Given the description of an element on the screen output the (x, y) to click on. 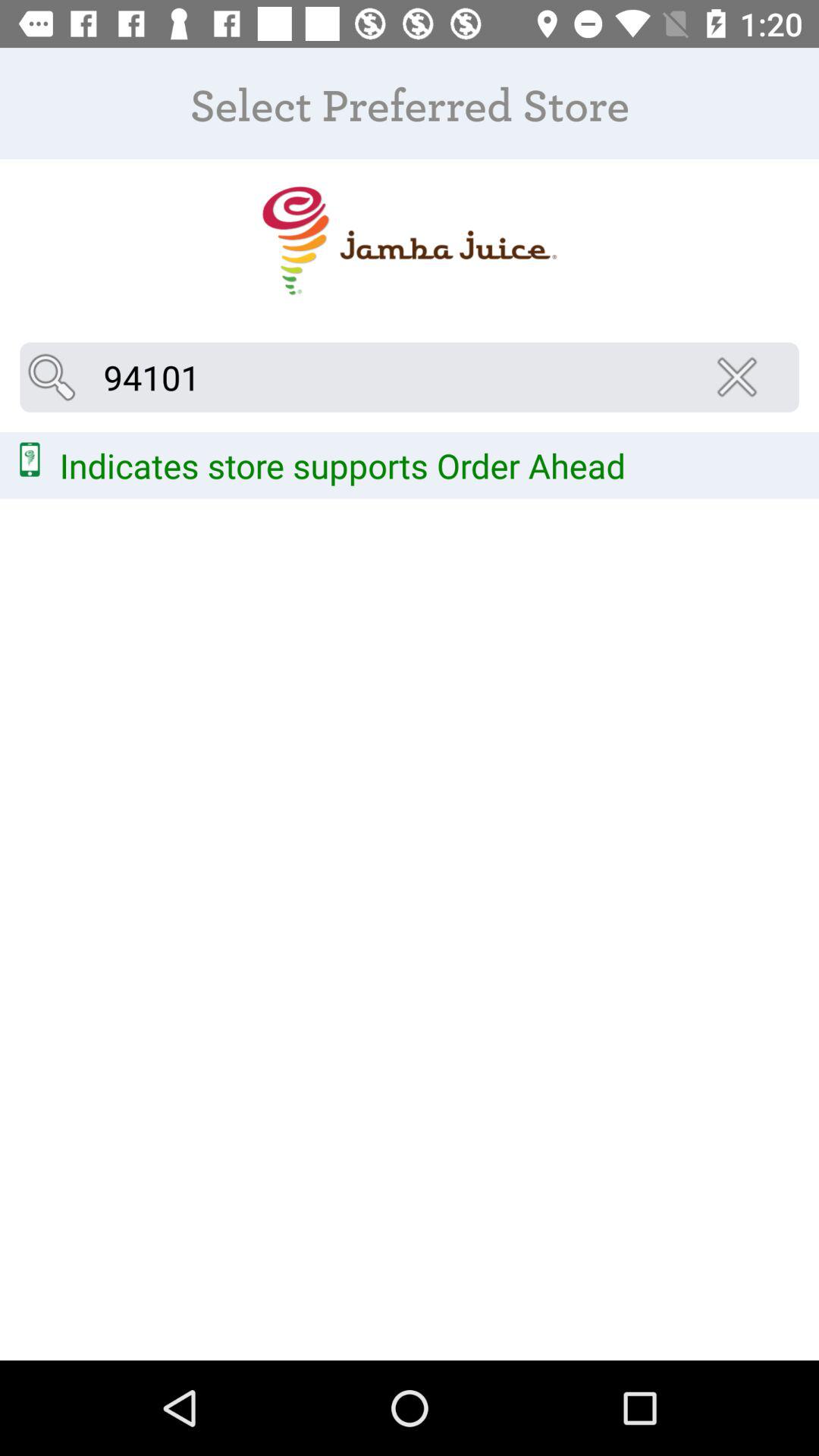
select store (408, 240)
